Given the description of an element on the screen output the (x, y) to click on. 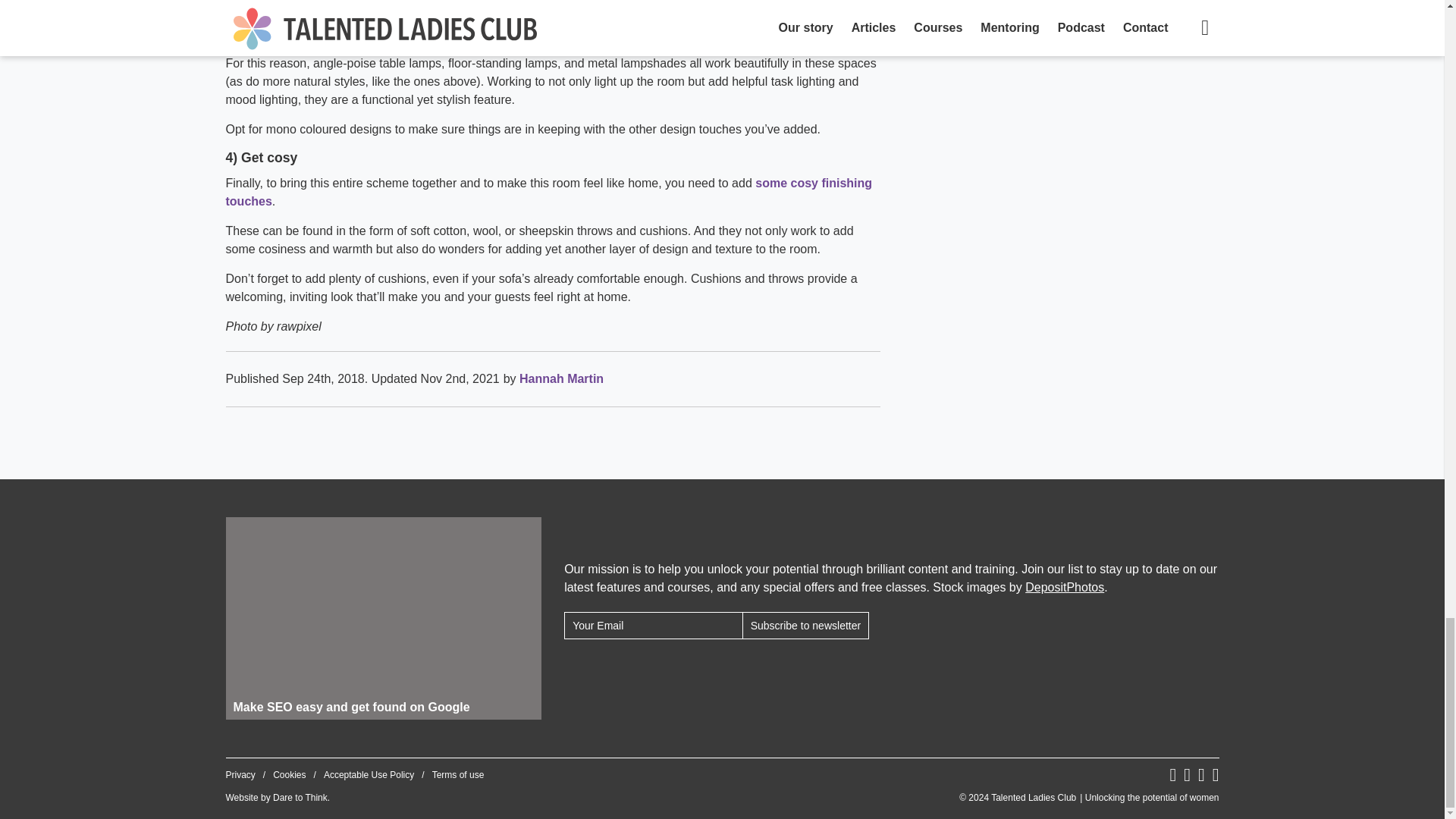
Subscribe to newsletter (805, 625)
Website design and development services from Dare to Think (300, 797)
Talented Ladies Club (1088, 797)
